Given the description of an element on the screen output the (x, y) to click on. 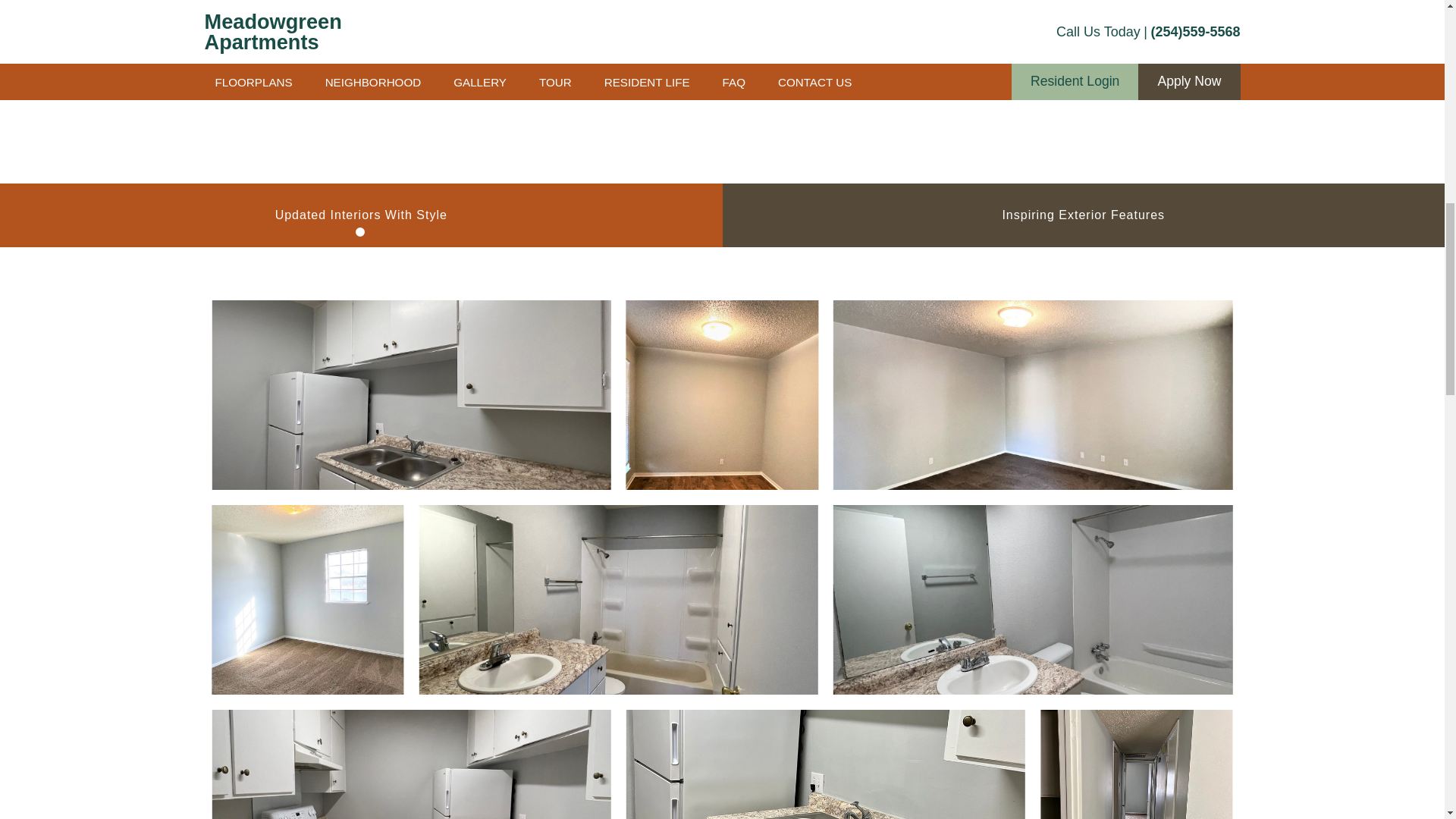
Updated Interiors With Style (361, 215)
